Given the description of an element on the screen output the (x, y) to click on. 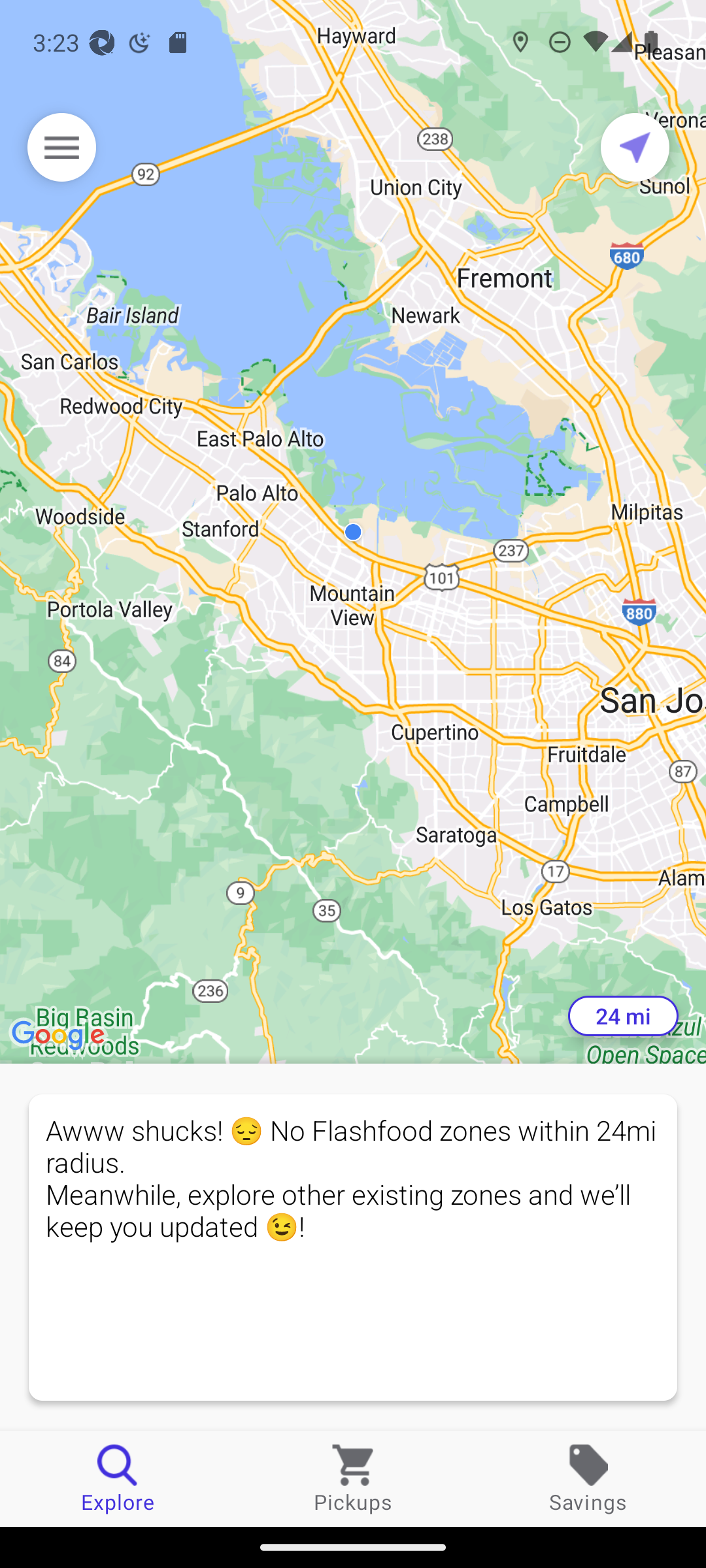
Menu (61, 146)
Current location (634, 146)
24 mi (623, 1015)
Pickups (352, 1478)
Savings (588, 1478)
